Given the description of an element on the screen output the (x, y) to click on. 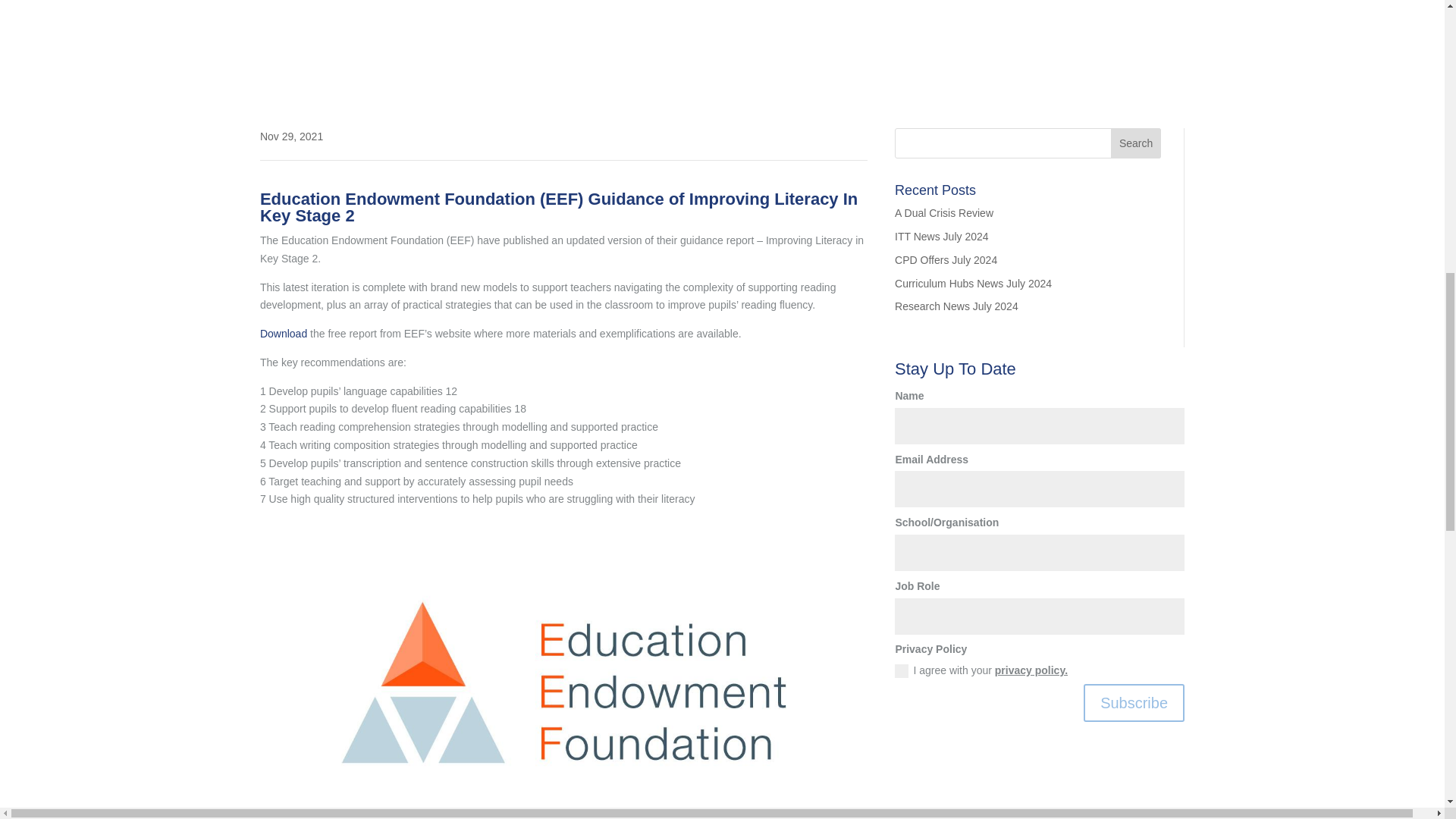
Follow on LinkedIn (1059, 748)
Search (1135, 142)
Follow on X (1029, 748)
